Given the description of an element on the screen output the (x, y) to click on. 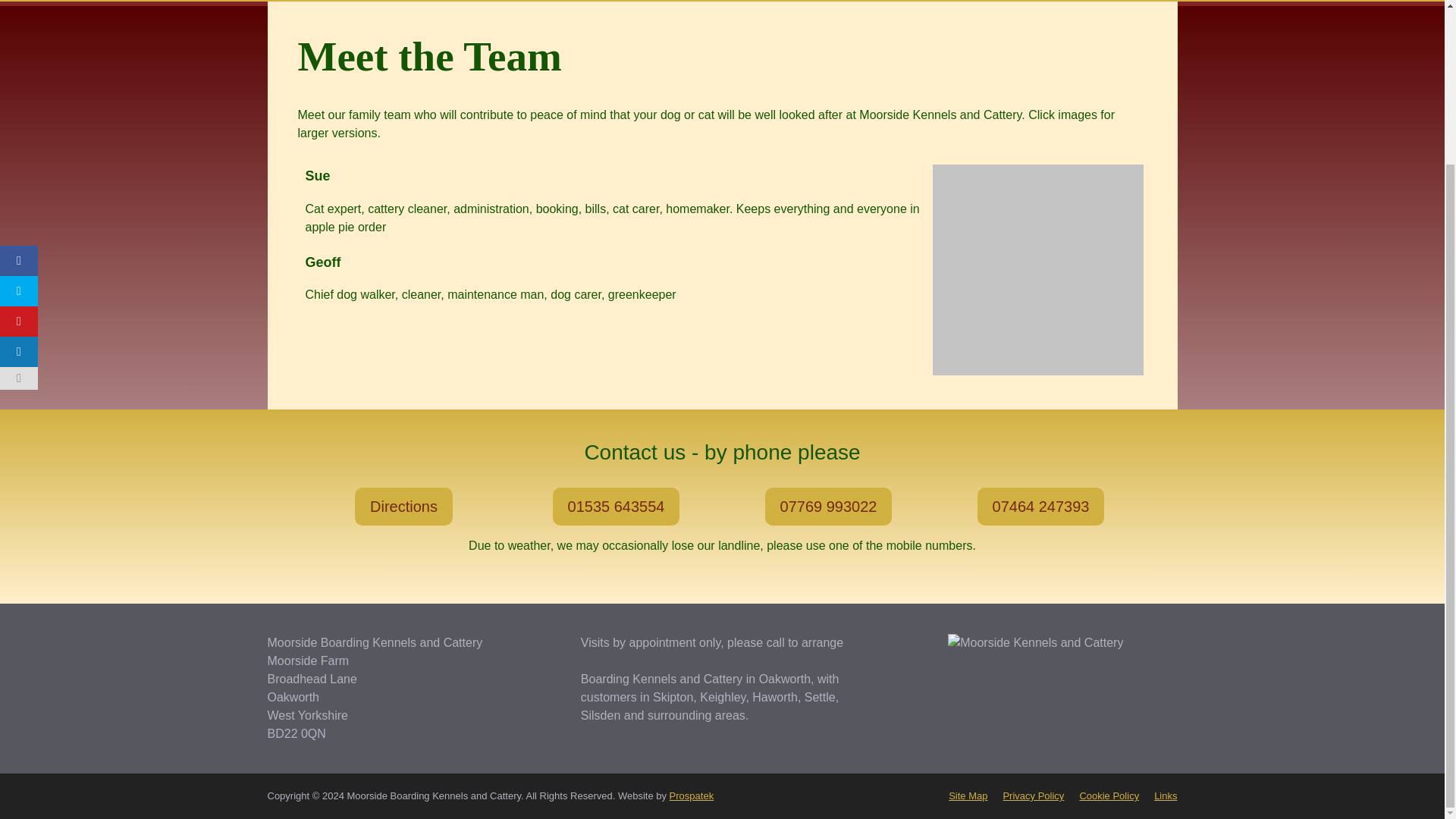
Site Map (968, 795)
07464 247393 (1040, 506)
Directions (403, 506)
Cats (635, 0)
Cookie Policy (1108, 795)
General (914, 0)
Privacy Policy (1033, 795)
Prospatek (691, 795)
01535 643554 (616, 506)
Meet the Team (381, 0)
Directions (472, 0)
07769 993022 (828, 506)
Links (1165, 795)
Home (296, 0)
Dogs (710, 0)
